Given the description of an element on the screen output the (x, y) to click on. 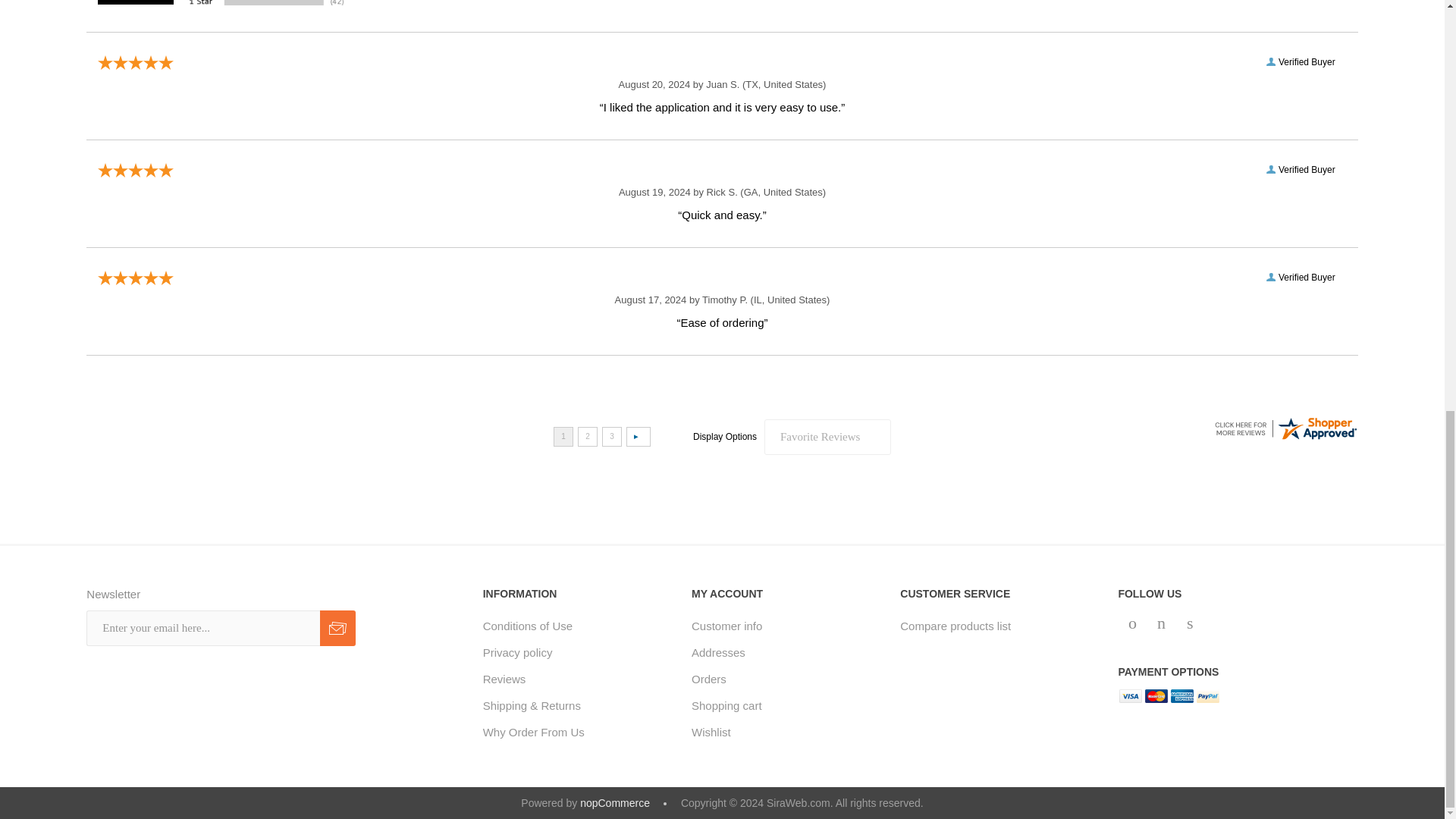
3 (611, 436)
2 (587, 436)
Subscribe (337, 628)
1 (563, 436)
